Given the description of an element on the screen output the (x, y) to click on. 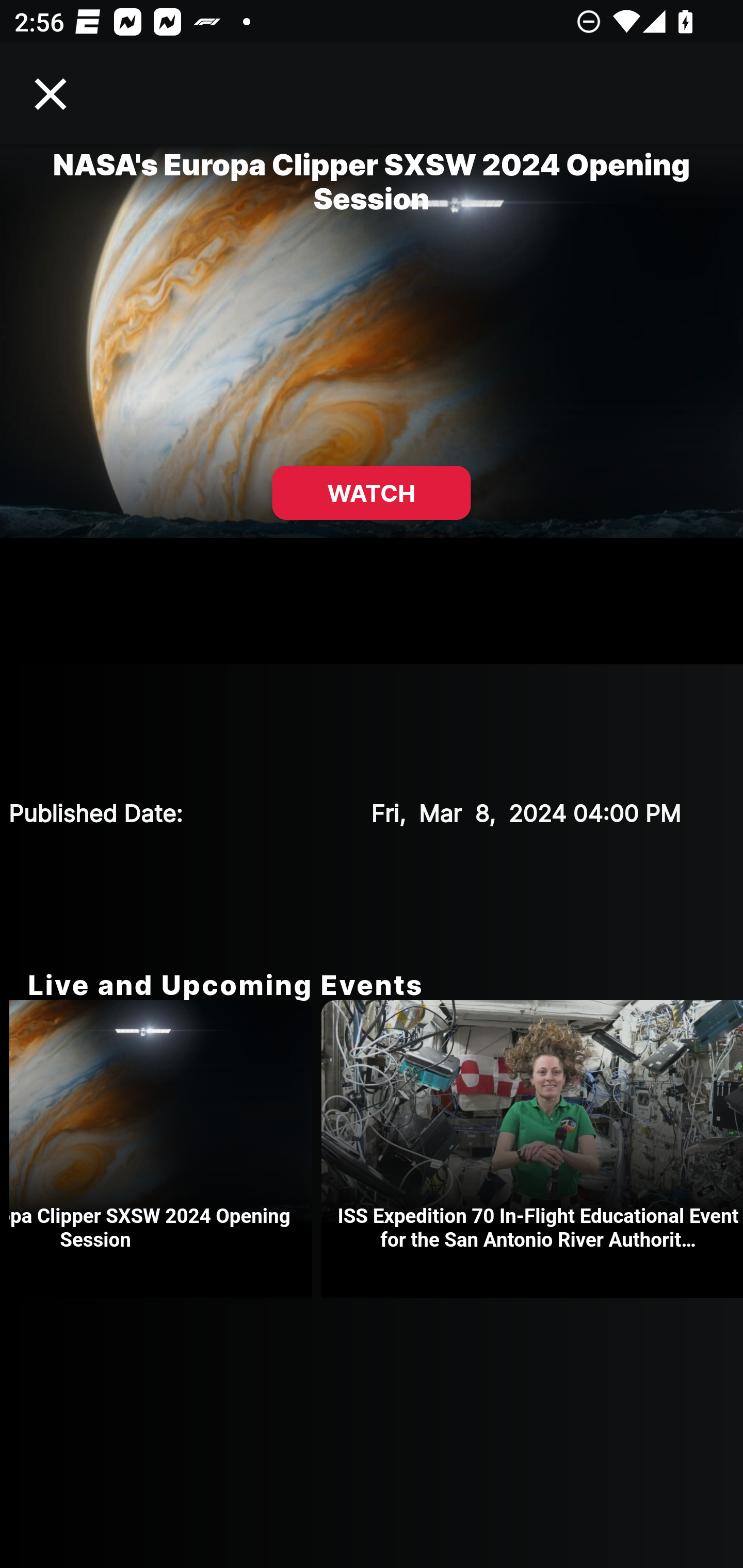
WATCH (371, 492)
NASA's Europa Clipper SXSW 2024 Opening Session (164, 1149)
